Given the description of an element on the screen output the (x, y) to click on. 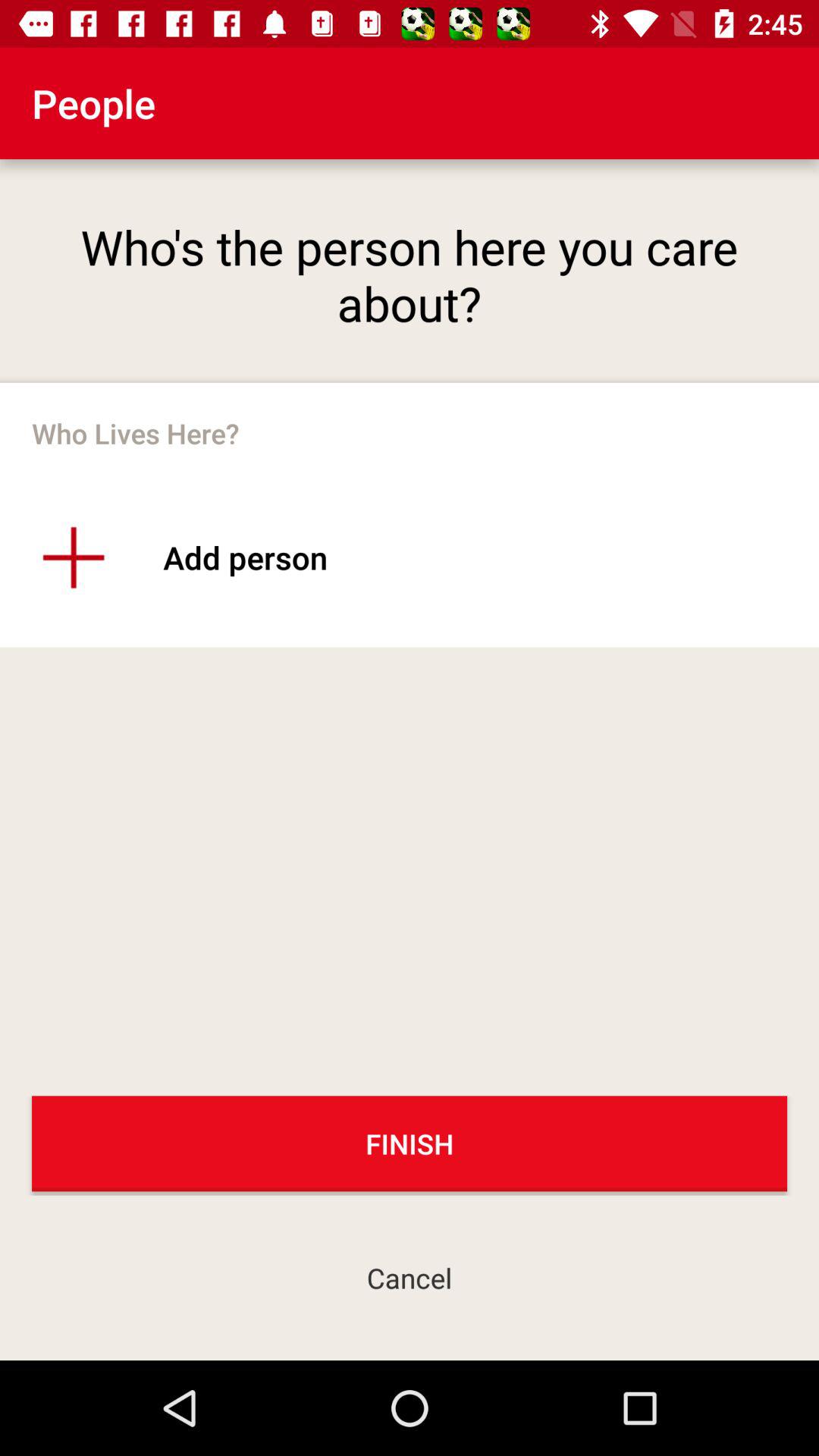
turn on cancel icon (409, 1277)
